Given the description of an element on the screen output the (x, y) to click on. 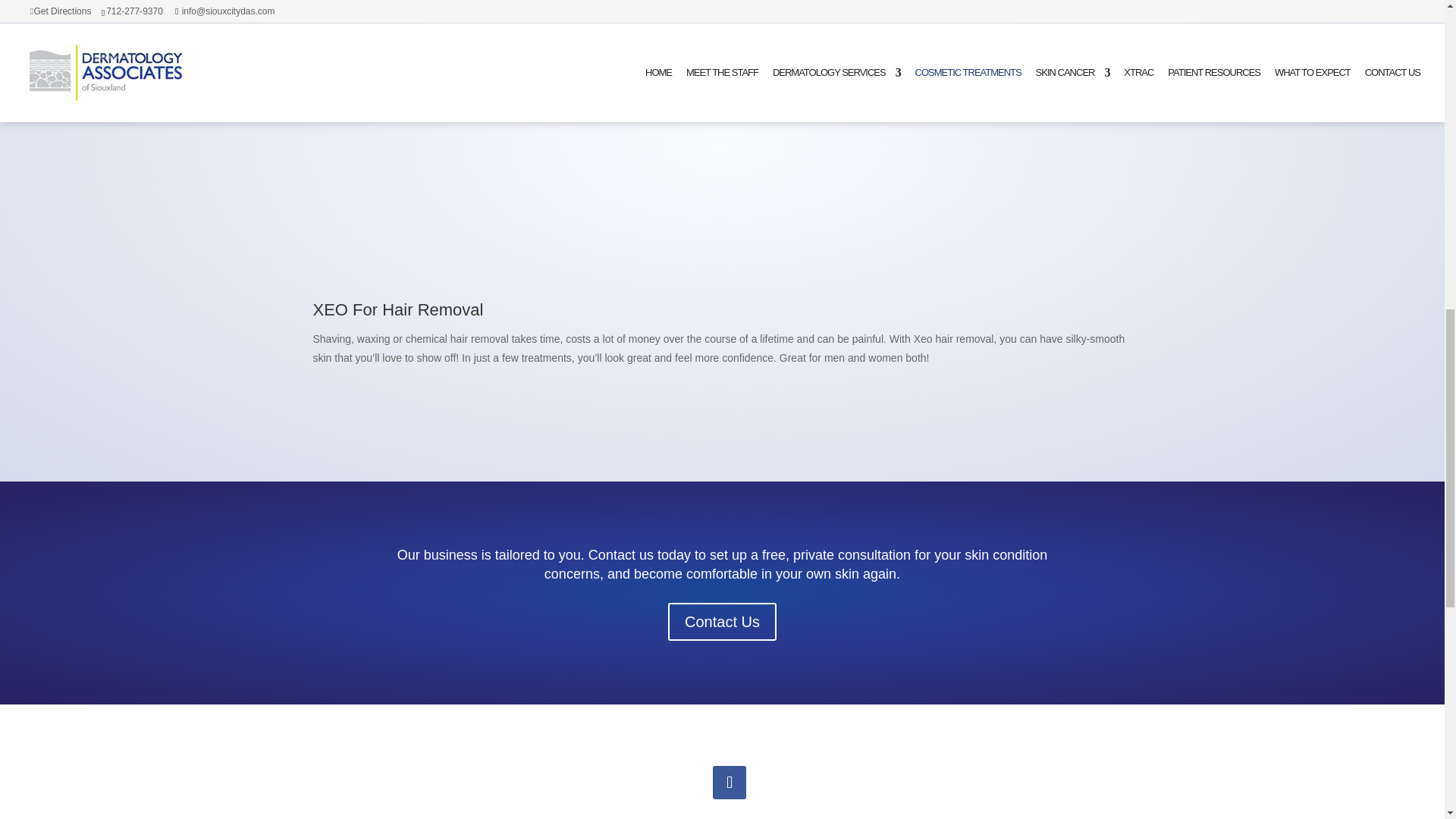
xeo Laser Genesis Treatment (937, 169)
Follow on Facebook (729, 782)
xeo Blossom ST by Cutera (505, 169)
Contact Us (722, 621)
